Given the description of an element on the screen output the (x, y) to click on. 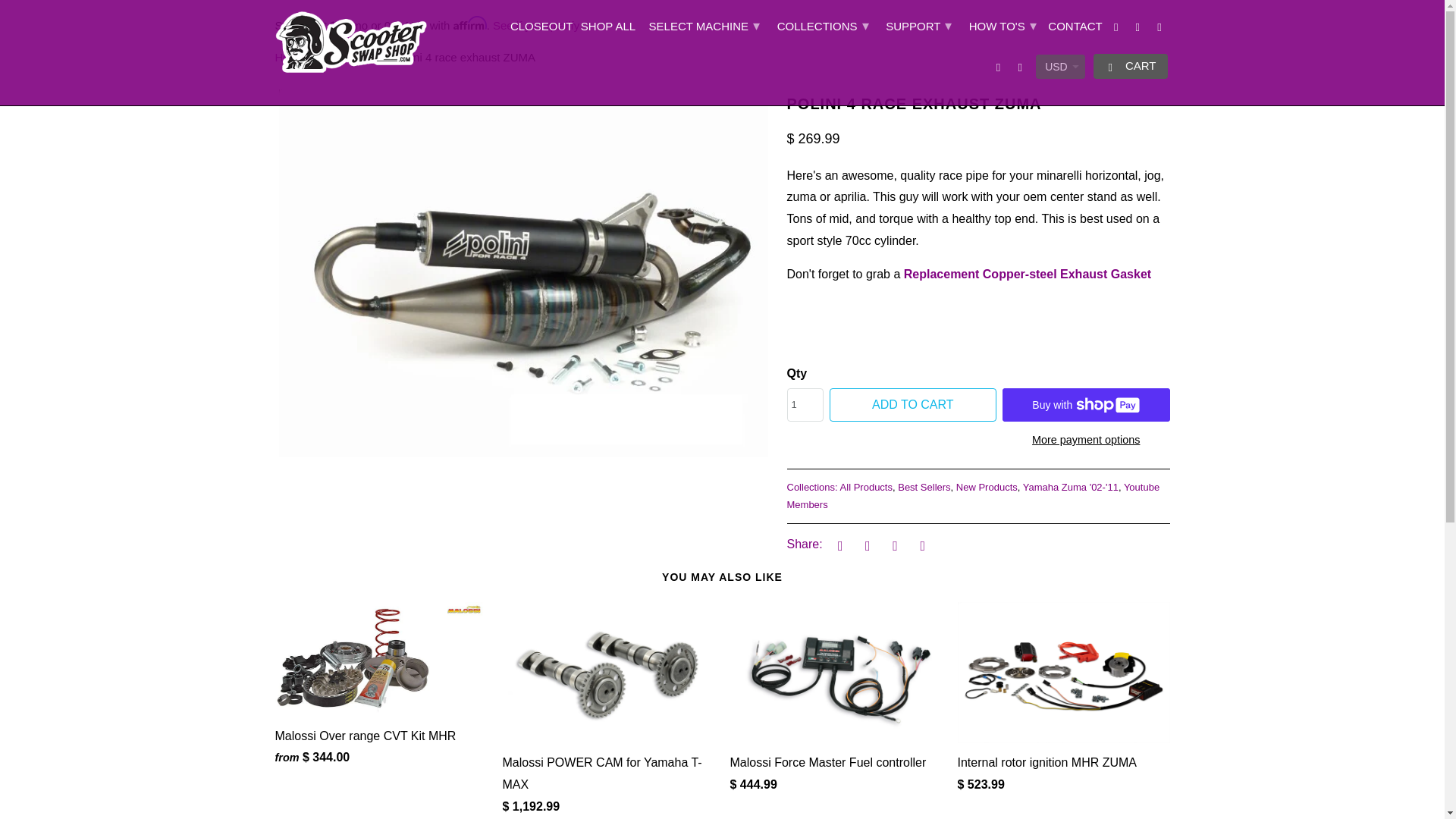
Youtube Members (973, 495)
Share this on Pinterest (892, 544)
ScooterSwapShop (289, 56)
Yamaha Zuma '02-'11 (1070, 487)
exhaust gasket (1027, 273)
Best Sellers (924, 487)
Products (349, 56)
New Products (986, 487)
All Products (866, 487)
Share this on Facebook (865, 544)
Email this to a friend (920, 544)
1 (805, 404)
Share this on Twitter (837, 544)
